Given the description of an element on the screen output the (x, y) to click on. 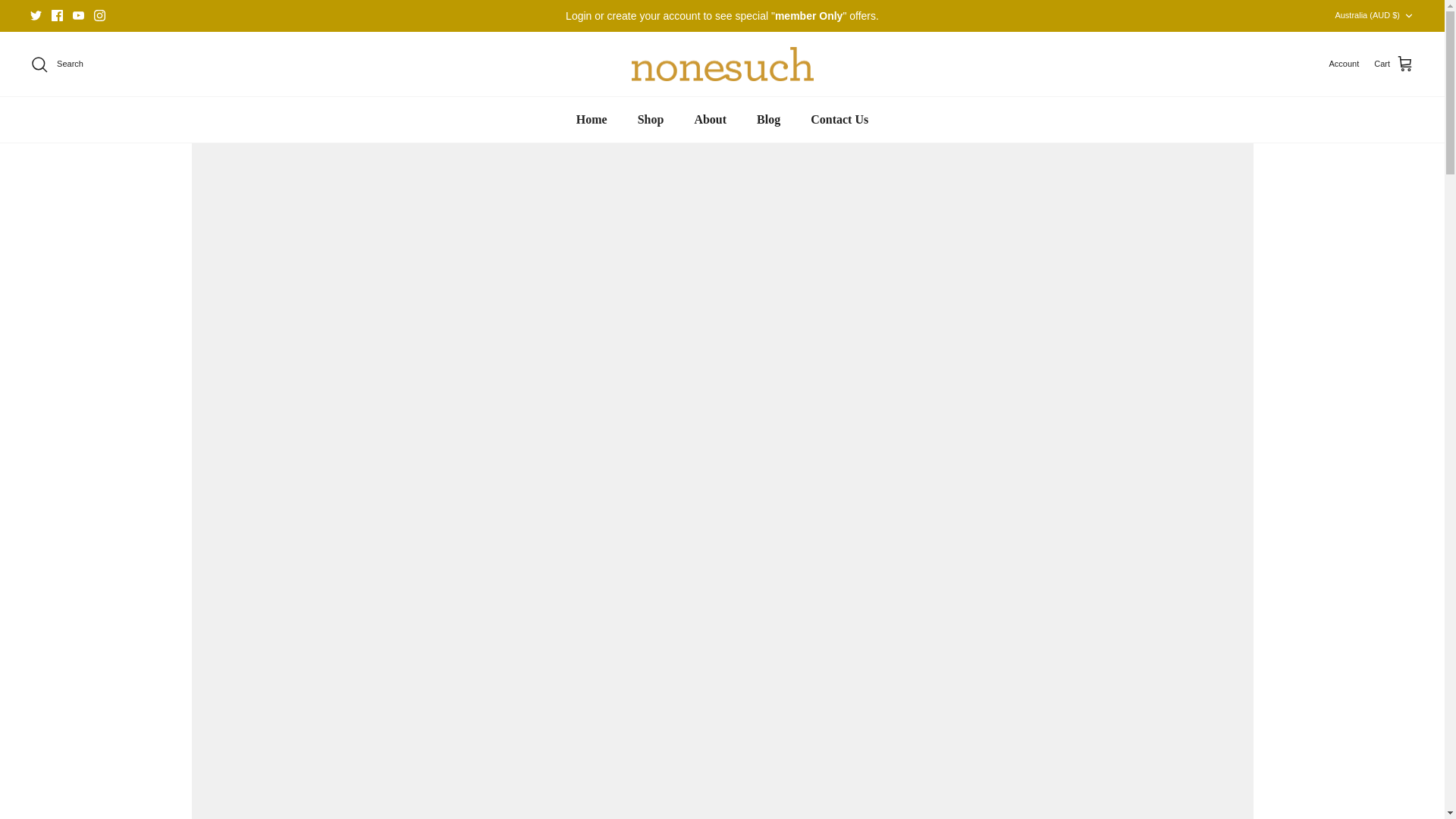
Account (1342, 64)
Shop (651, 119)
Nonesuch Distillery (721, 63)
Instagram (99, 15)
Facebook (56, 15)
Blog (767, 119)
Down (1408, 15)
Cart (1393, 64)
Twitter (36, 15)
Youtube (78, 15)
About (709, 119)
Search (56, 64)
Facebook (56, 15)
Twitter (36, 15)
Instagram (99, 15)
